Given the description of an element on the screen output the (x, y) to click on. 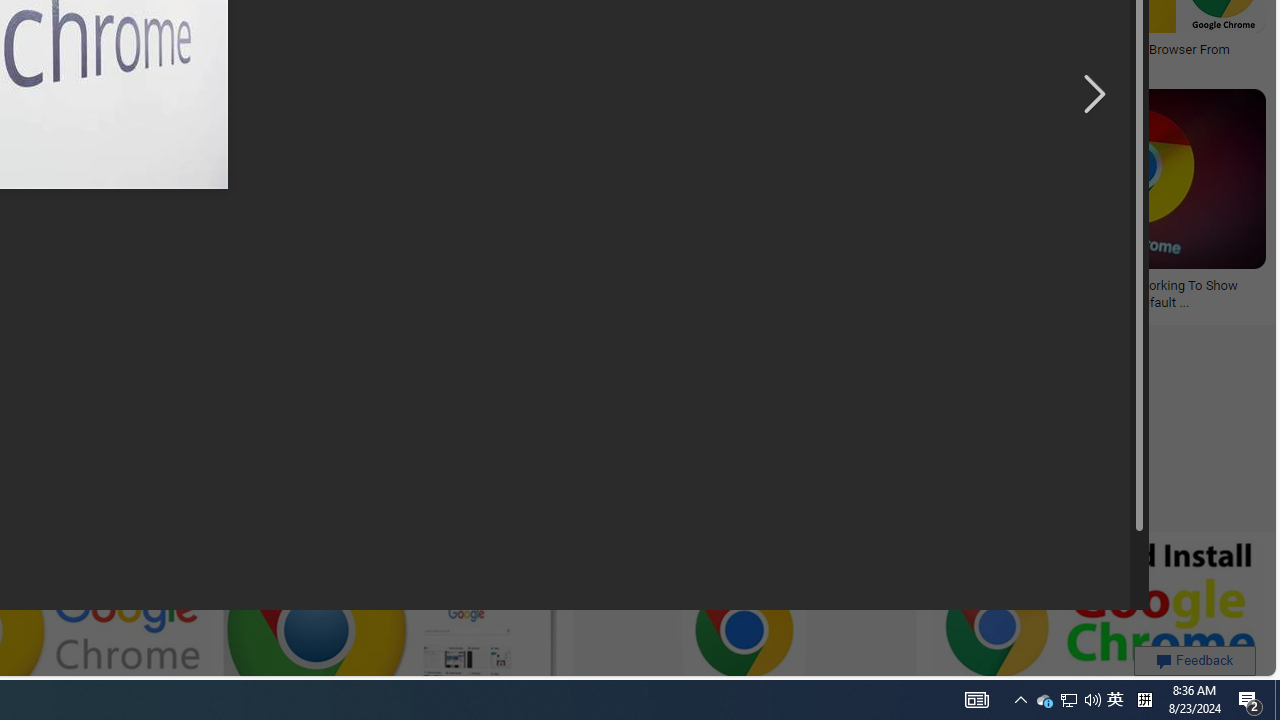
Google Chrome Download The Fast Secure Browser From Google (1078, 57)
Image result for Google Chrome Internet Browser Download (1133, 179)
Chrome Browser (736, 286)
What Is The Fastest Browser To Use With Windows 10Save (544, 202)
What Is The Fastest Browser To Use With Windows 10 (540, 294)
The latest version of google chrome free download - gaimacro (443, 56)
Feedback (1194, 660)
Google Chrome Download The Fast Secure Browser From Google (1078, 57)
Lambang Chrome (86, 286)
Google Chrome Review | Top Ten Reviews (707, 50)
